Given the description of an element on the screen output the (x, y) to click on. 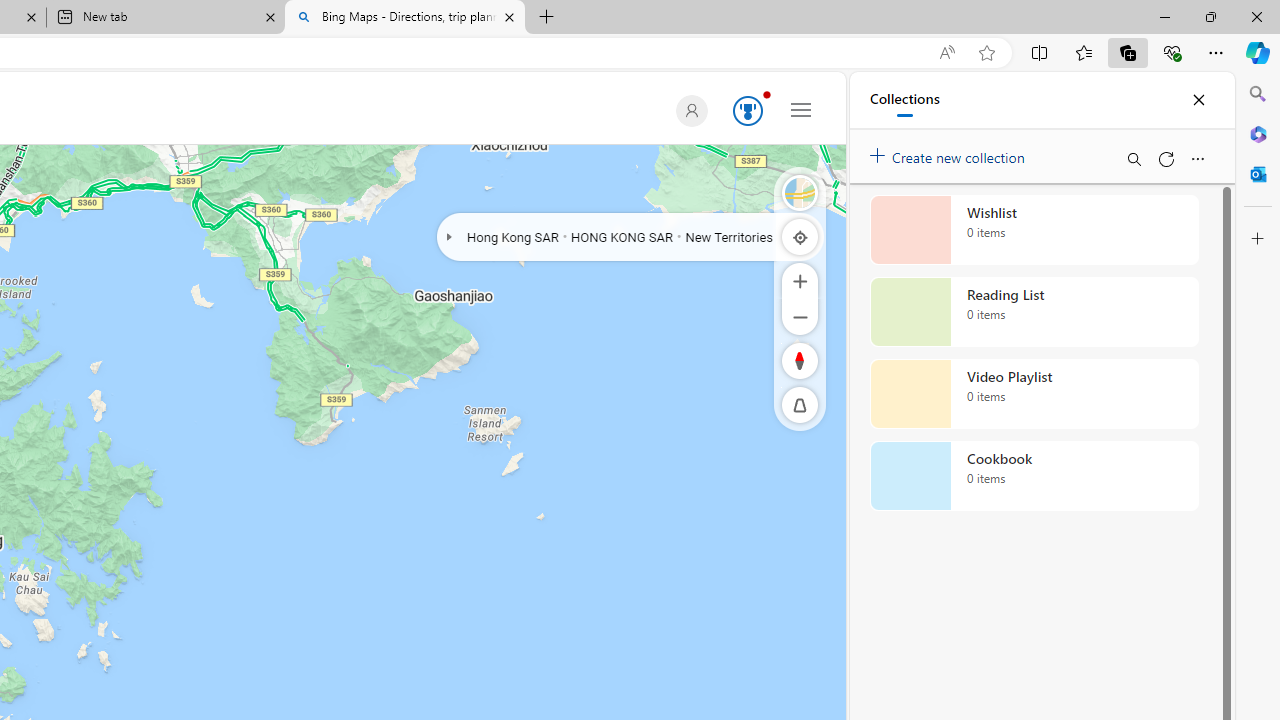
Video Playlist collection, 0 items (1034, 394)
